Given the description of an element on the screen output the (x, y) to click on. 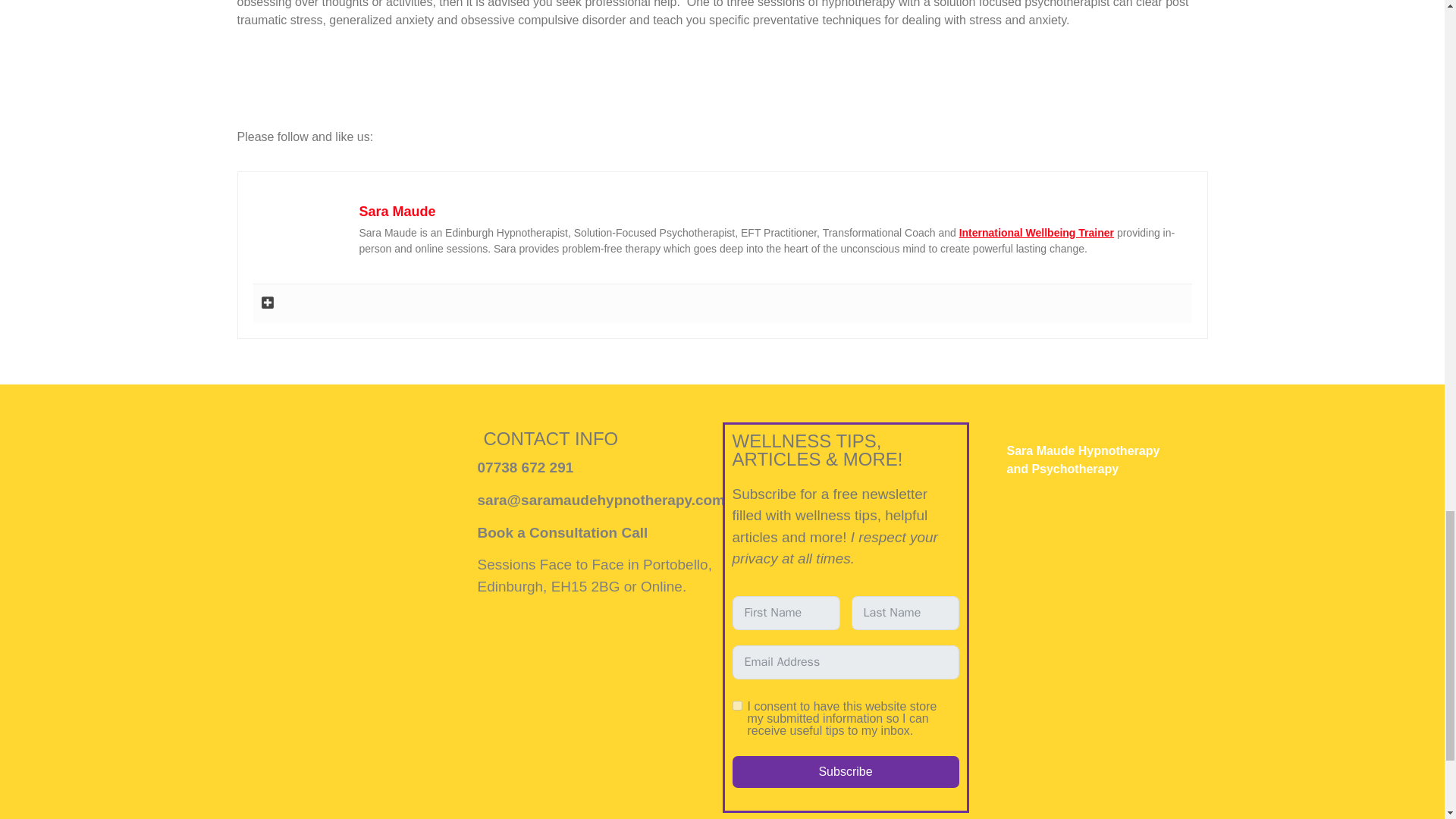
Tweet (375, 157)
Facebook Share (324, 154)
Pin Share (426, 154)
on (737, 705)
